Given the description of an element on the screen output the (x, y) to click on. 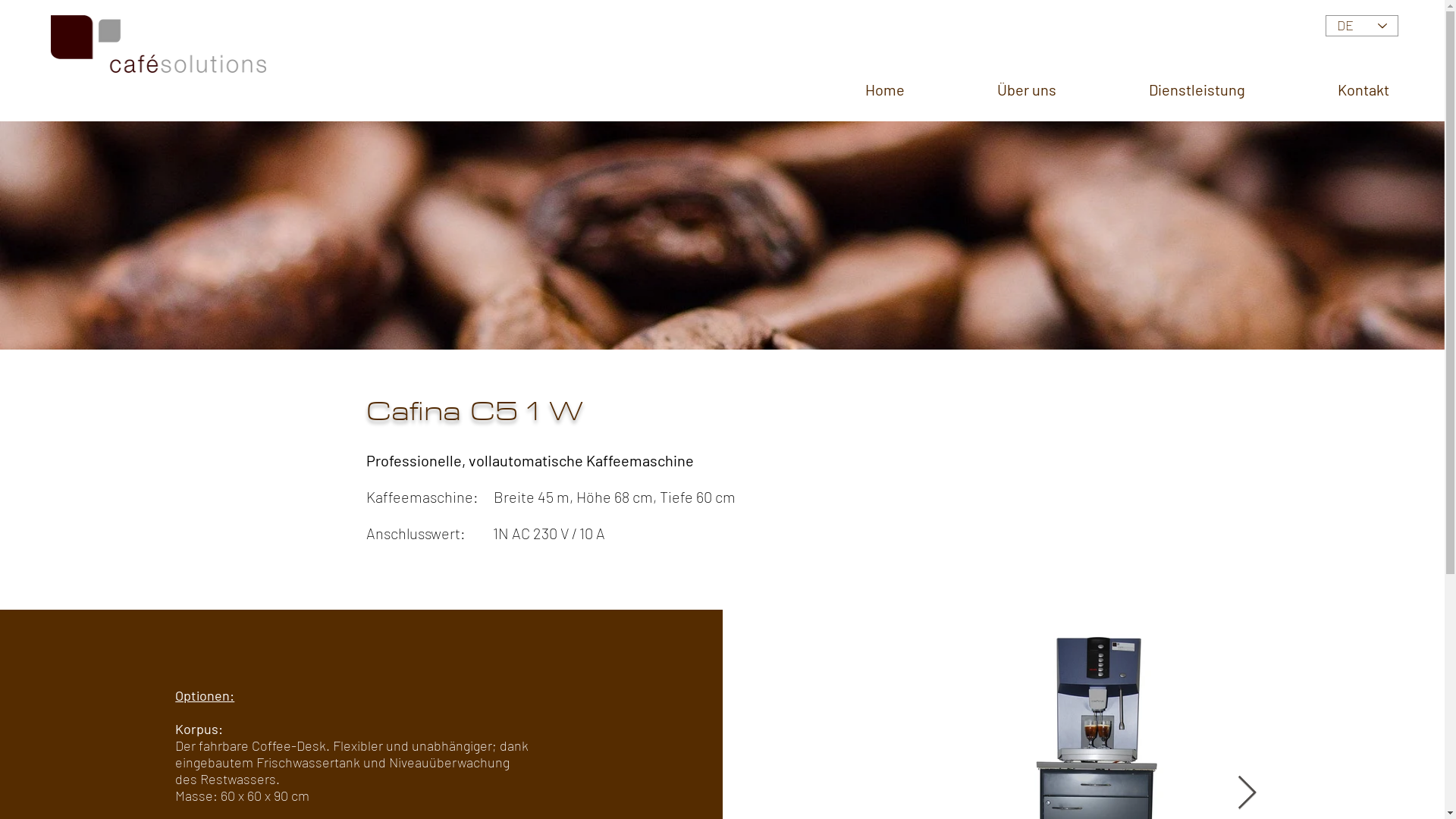
Kontakt Element type: text (1362, 89)
Home Element type: text (884, 89)
